Given the description of an element on the screen output the (x, y) to click on. 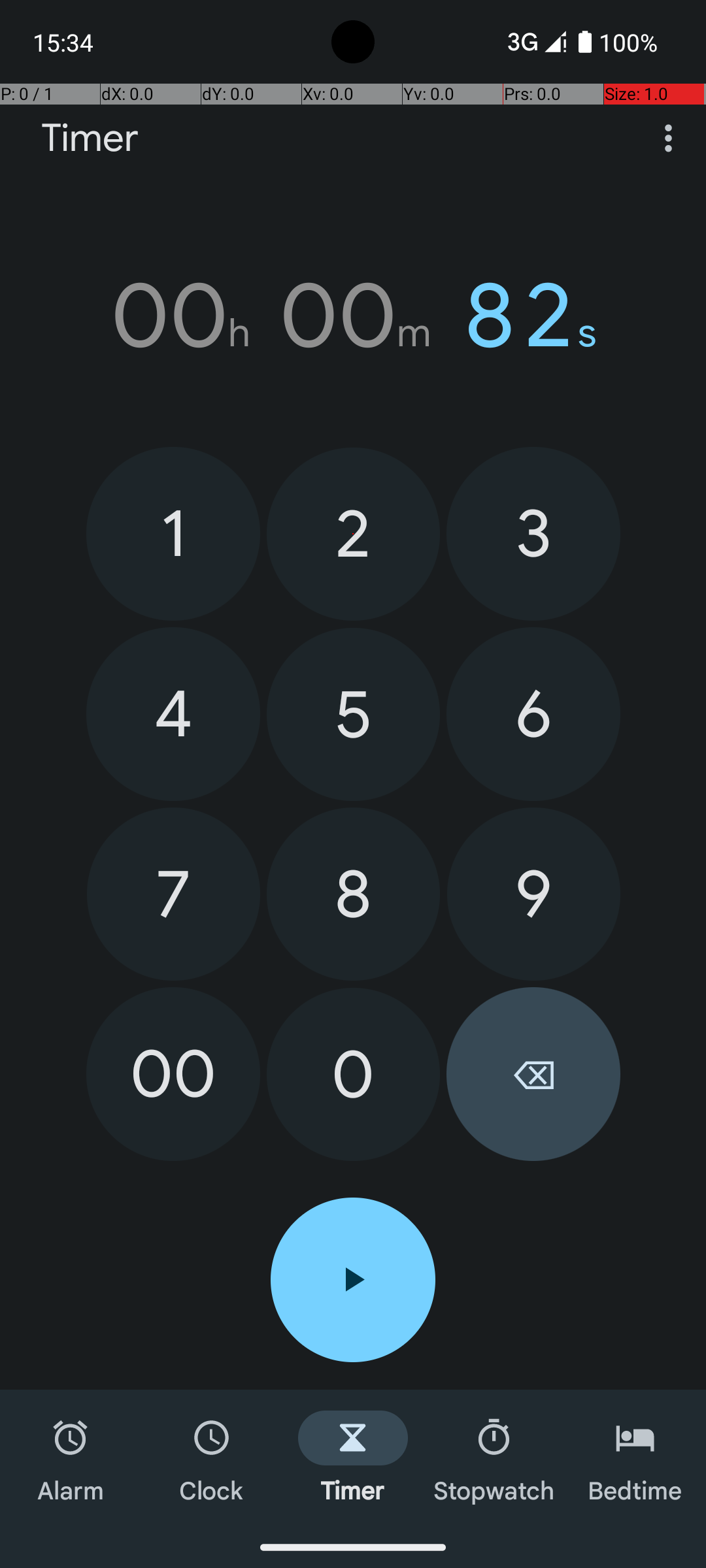
00h 00m 82s Element type: android.widget.TextView (353, 315)
